Given the description of an element on the screen output the (x, y) to click on. 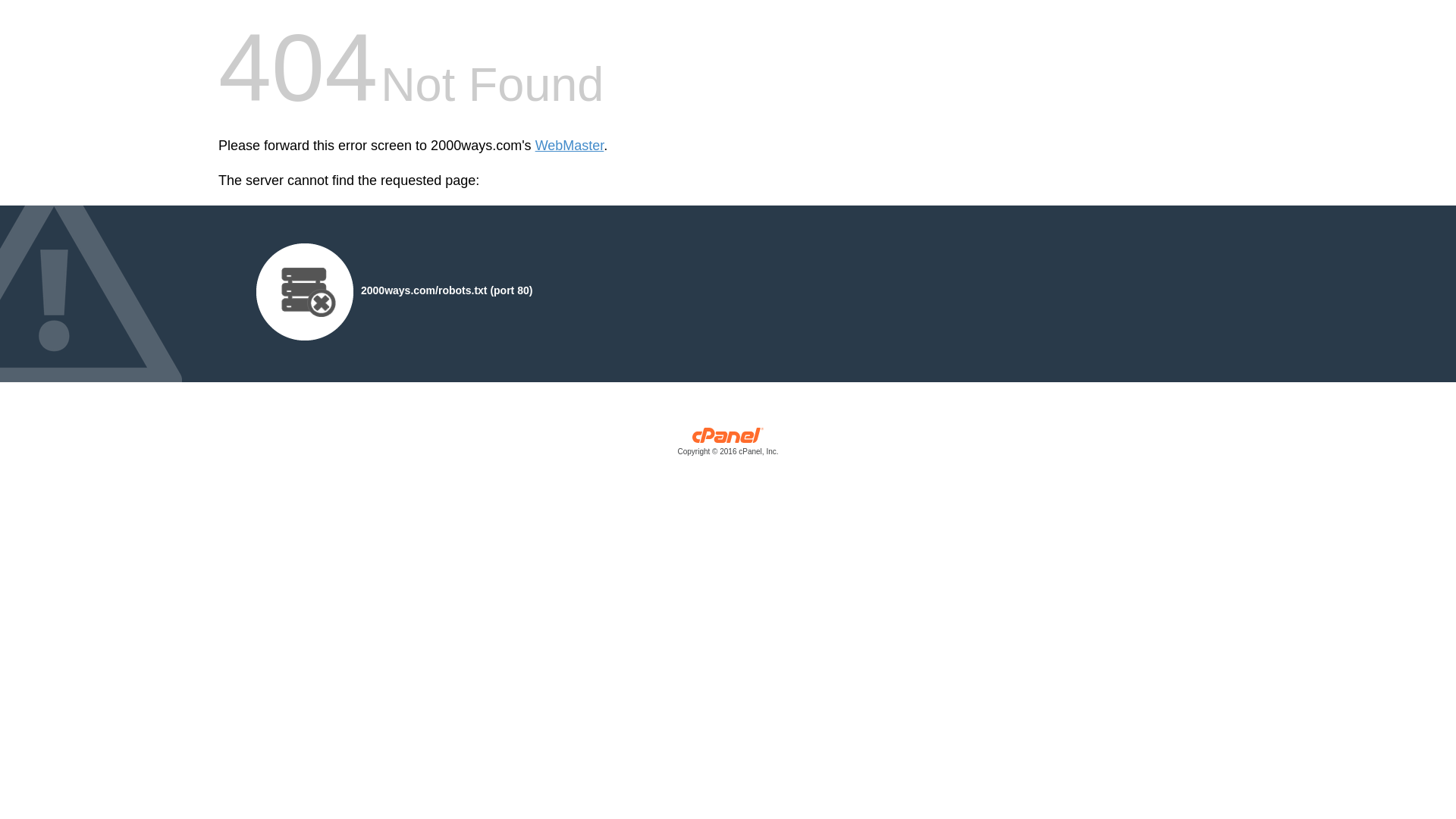
WebMaster Element type: text (569, 145)
